Given the description of an element on the screen output the (x, y) to click on. 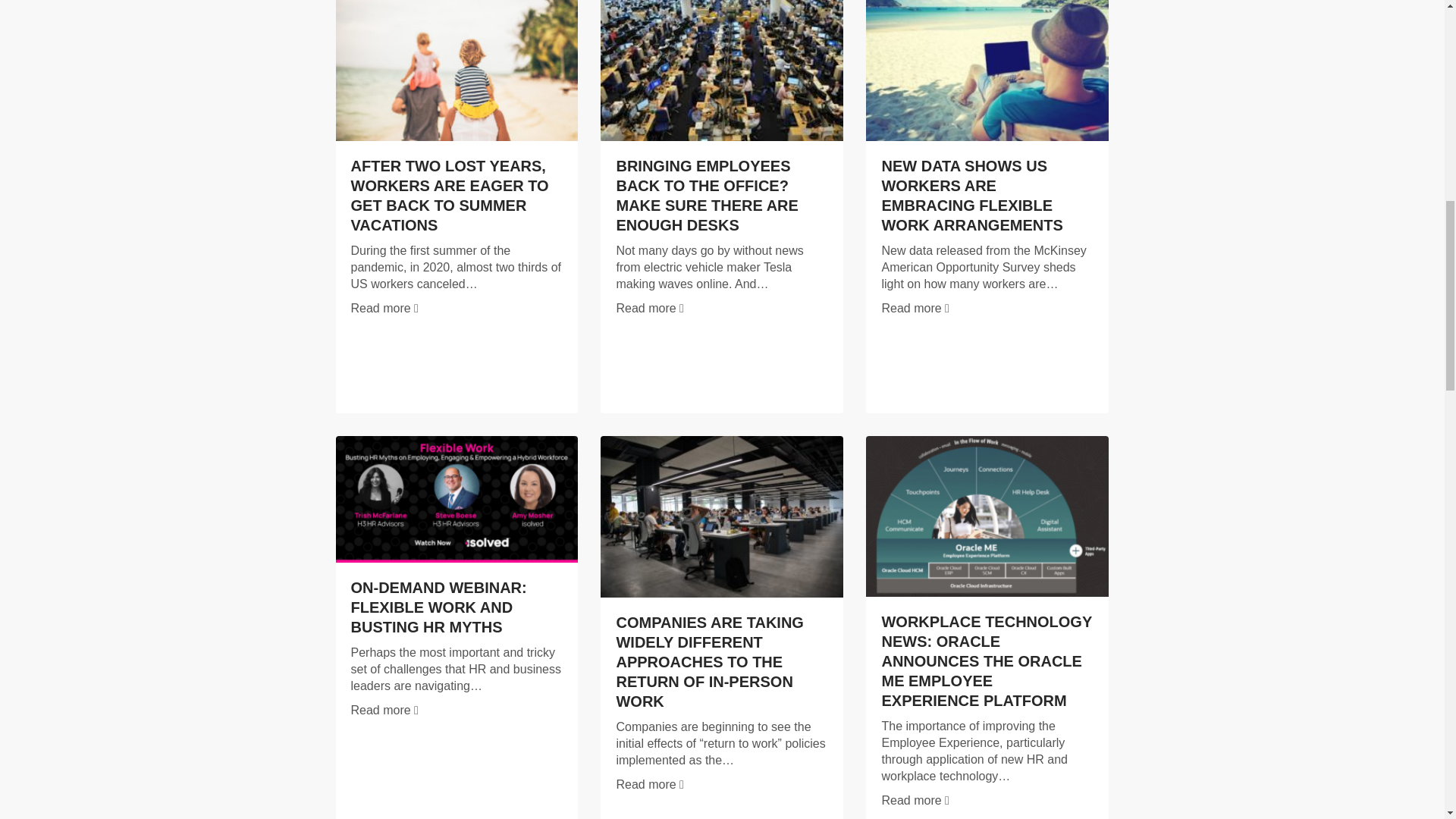
Read more (383, 308)
Read more (648, 308)
